Given the description of an element on the screen output the (x, y) to click on. 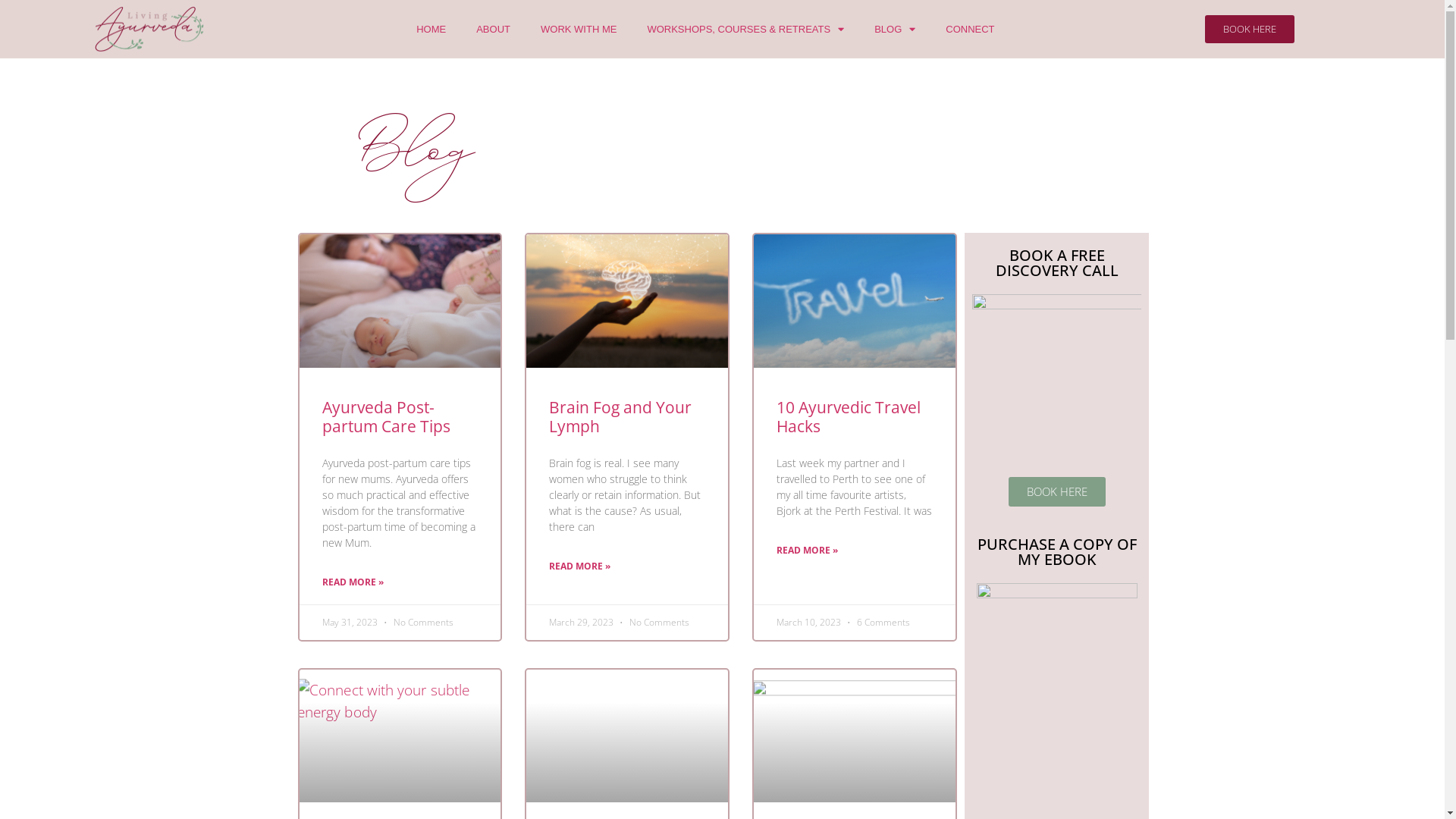
BOOK HERE Element type: text (1249, 29)
ABOUT Element type: text (493, 29)
Brain Fog and Your Lymph Element type: text (620, 416)
Ayurveda Post-partum Care Tips Element type: text (385, 416)
BOOK HERE Element type: text (1056, 491)
HOME Element type: text (431, 29)
WORK WITH ME Element type: text (578, 29)
WORKSHOPS, COURSES & RETREATS Element type: text (745, 29)
CONNECT Element type: text (969, 29)
10 Ayurvedic Travel Hacks Element type: text (848, 416)
BLOG Element type: text (894, 29)
